Given the description of an element on the screen output the (x, y) to click on. 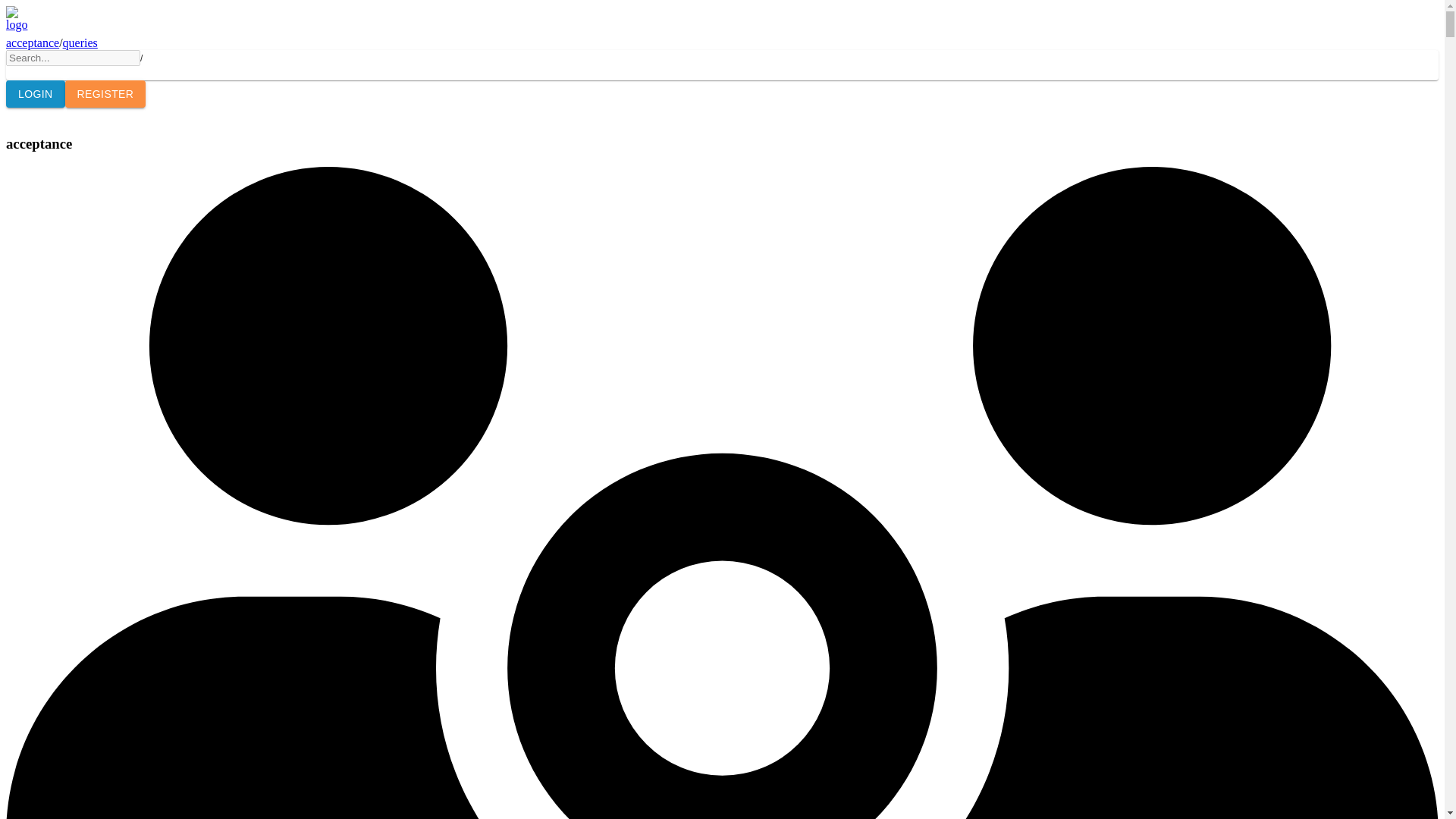
acceptance (32, 42)
REGISTER (106, 94)
queries (79, 42)
LOGIN (35, 94)
